Given the description of an element on the screen output the (x, y) to click on. 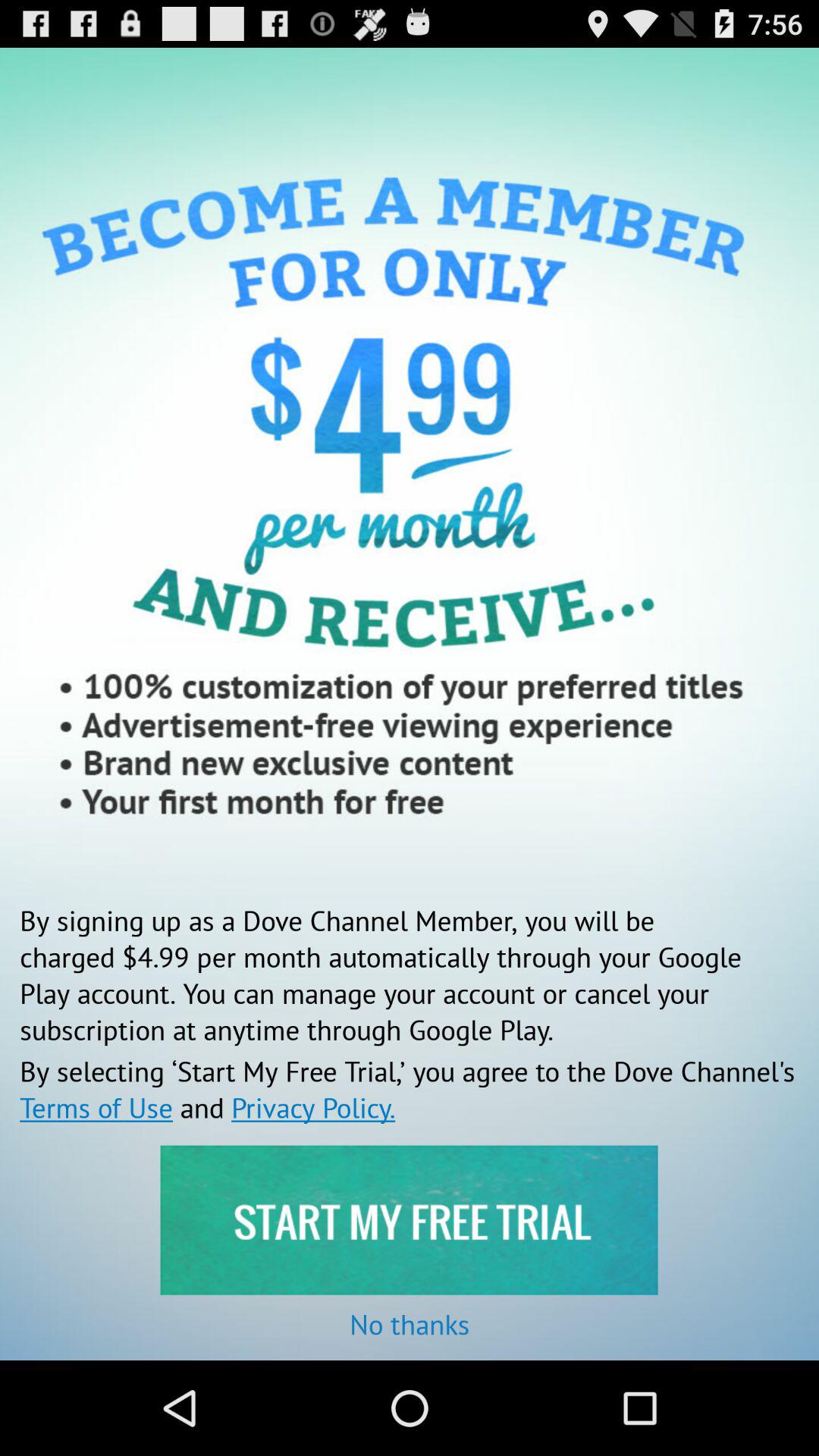
free trial option (409, 1220)
